Given the description of an element on the screen output the (x, y) to click on. 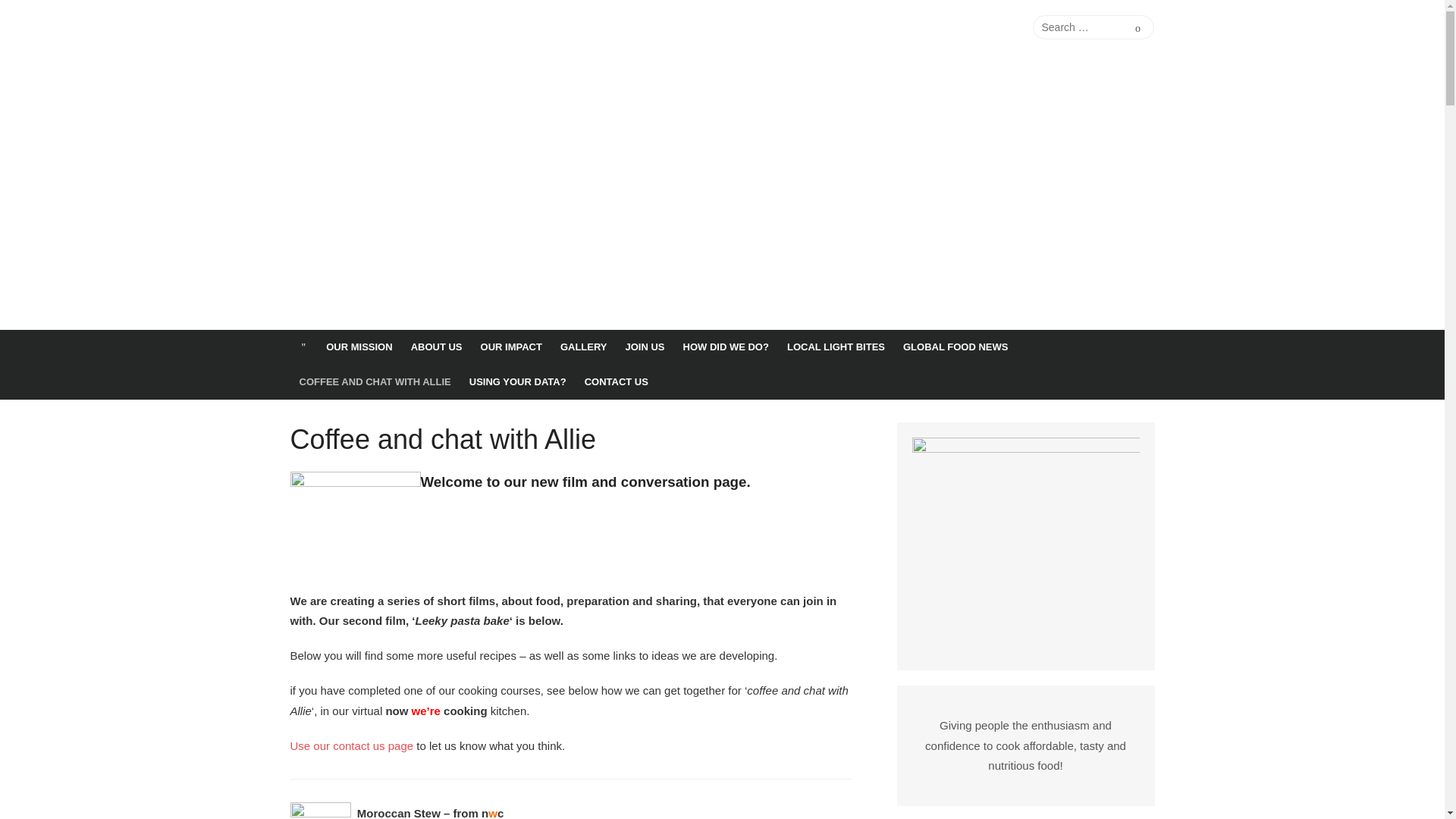
USING YOUR DATA? (517, 381)
Use our contact us page (351, 745)
CONTACT US (616, 381)
Search (1137, 27)
GLOBAL FOOD NEWS (954, 347)
ABOUT US (436, 347)
HOW DID WE DO? (725, 347)
COFFEE AND CHAT WITH ALLIE (374, 381)
OUR MISSION (359, 347)
JOIN US (644, 347)
LOCAL LIGHT BITES (835, 347)
GALLERY (583, 347)
OUR IMPACT (511, 347)
